Given the description of an element on the screen output the (x, y) to click on. 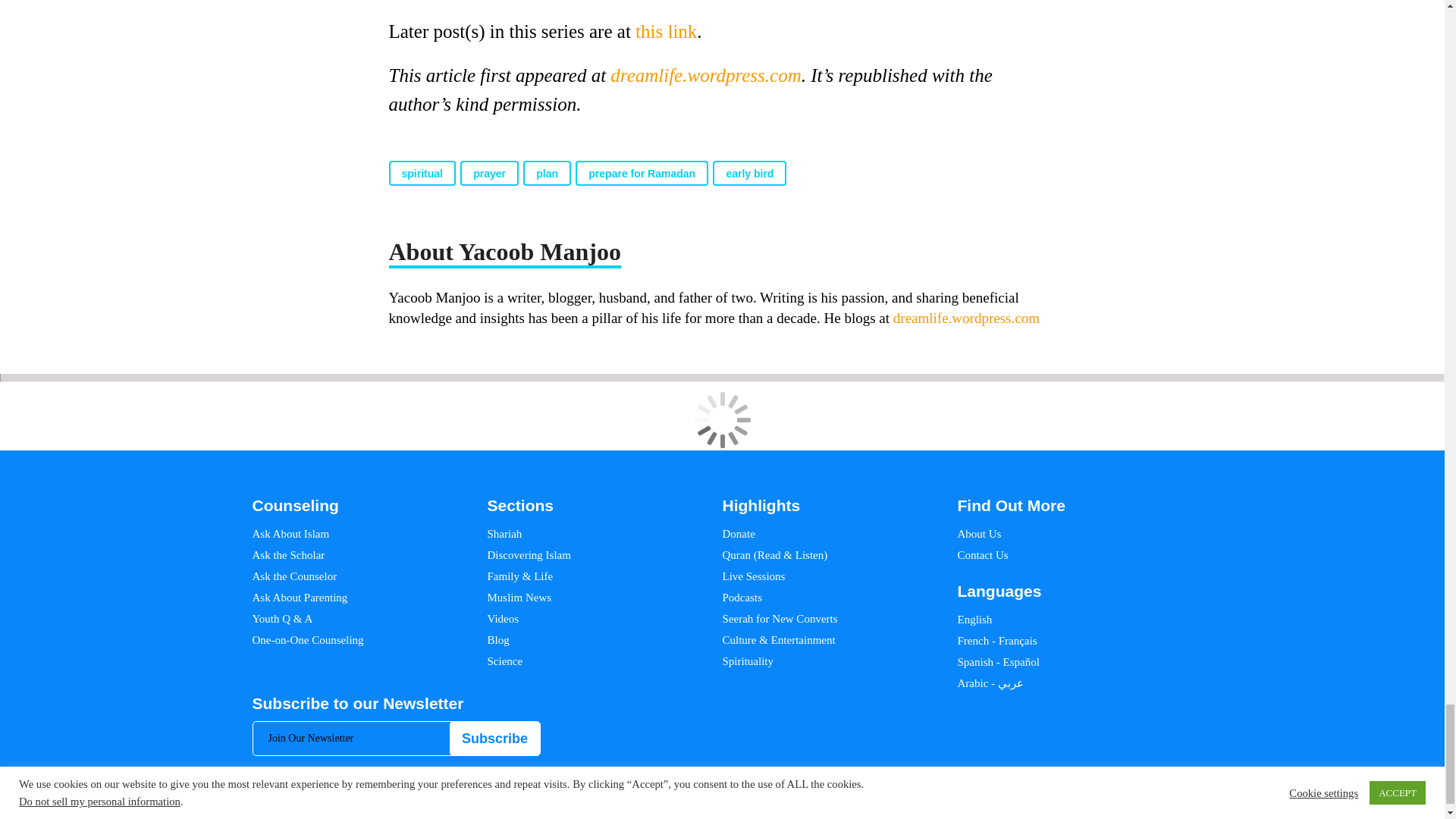
pinterest (1113, 807)
Subscribe (494, 738)
spiritual Tag (421, 172)
plan Tag (546, 172)
Facebook (1045, 807)
early bird Tag (749, 172)
prepare for Ramadan Tag (641, 172)
Twitter (1068, 807)
prayer Tag (489, 172)
instagram (1091, 807)
Join Our Newsletter (396, 738)
